Given the description of an element on the screen output the (x, y) to click on. 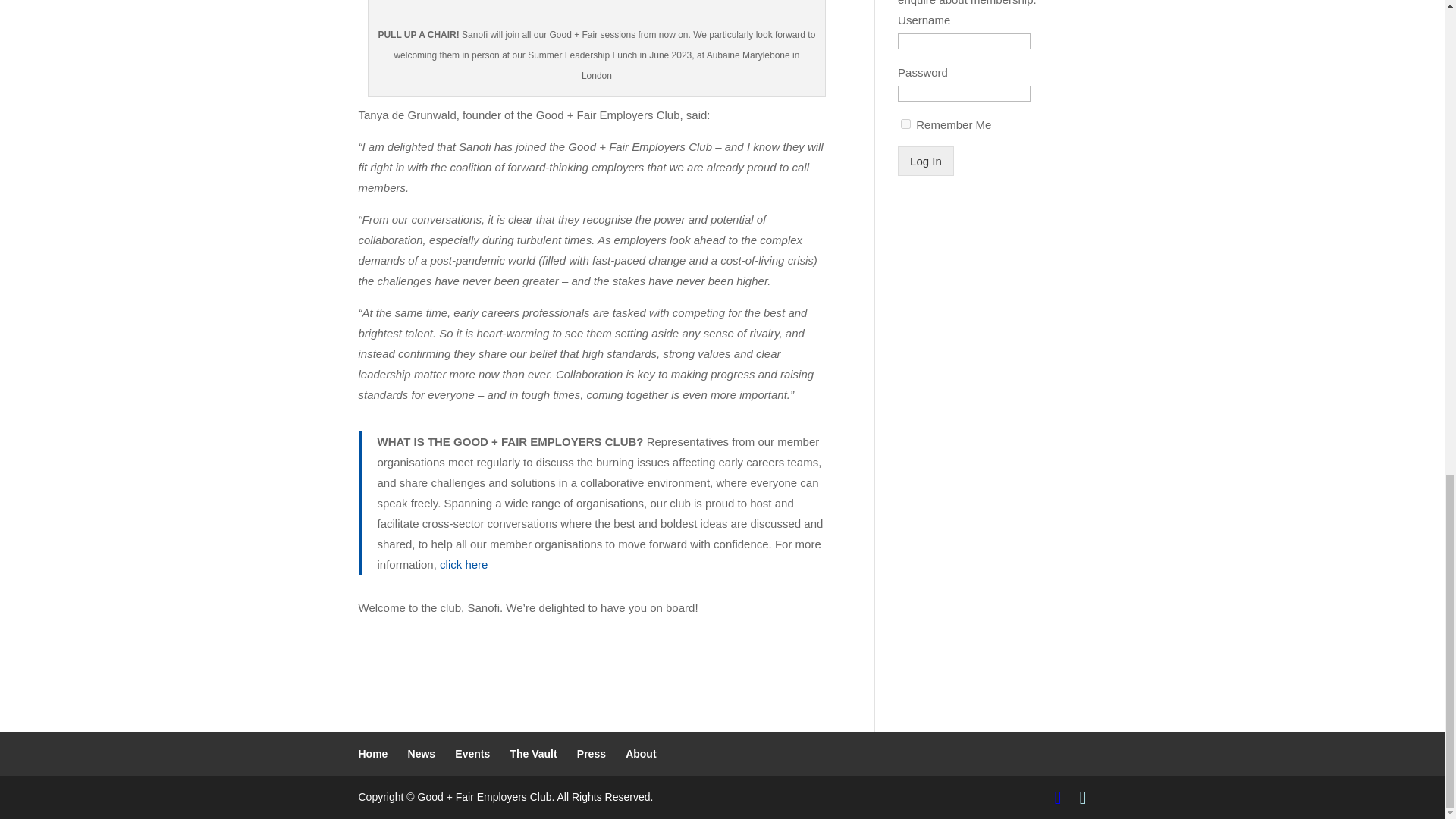
forever (906, 123)
click here (463, 563)
Press (590, 753)
Log In (925, 161)
About (641, 753)
Home (372, 753)
Log In (925, 161)
The Vault (532, 753)
News (421, 753)
Events (471, 753)
